Given the description of an element on the screen output the (x, y) to click on. 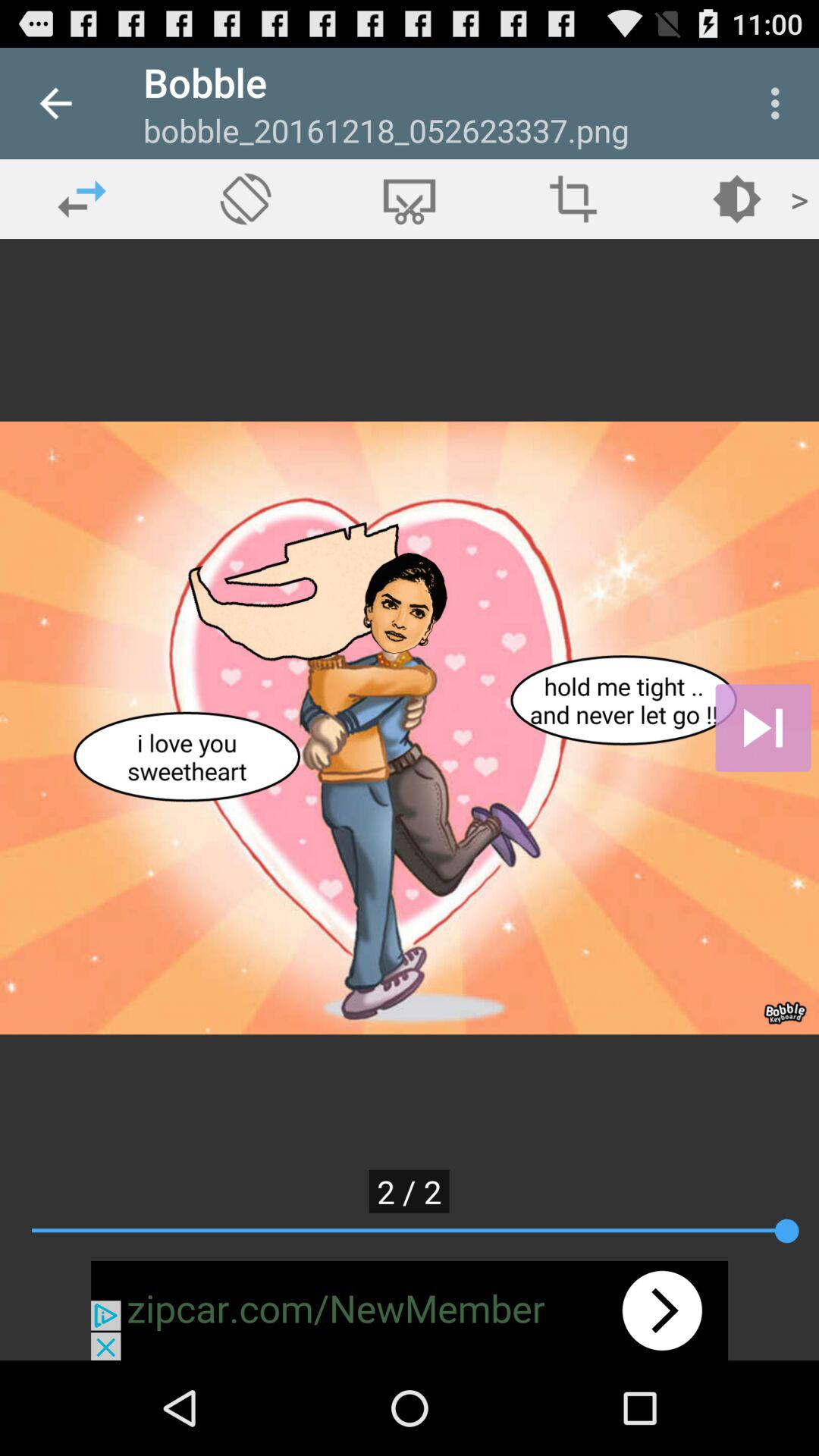
change from portrait to landscape (245, 198)
